Given the description of an element on the screen output the (x, y) to click on. 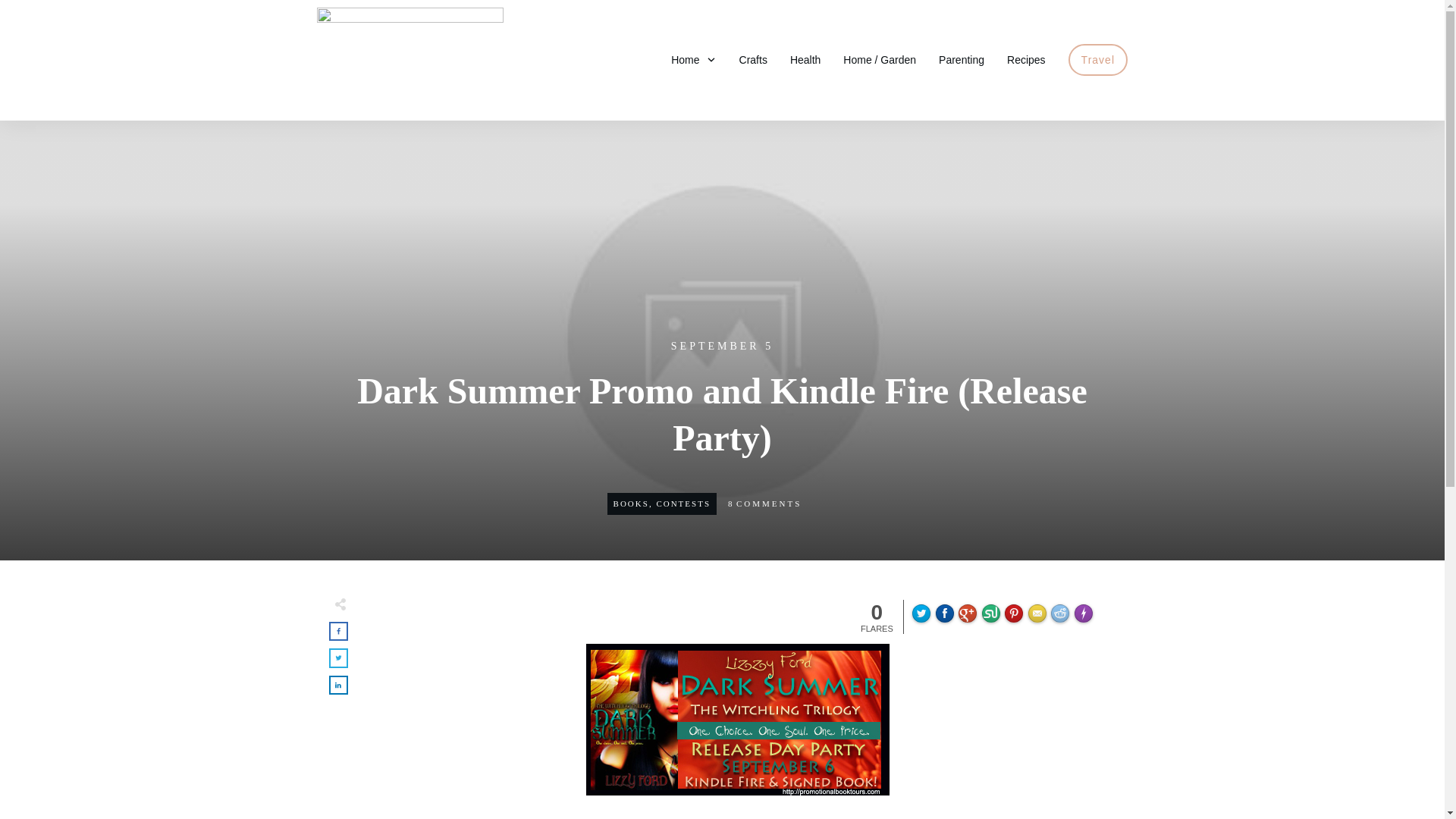
Recipes (1026, 59)
darksummerpromobanner (736, 719)
Crafts (753, 59)
Health (805, 59)
Contests (683, 502)
BOOKS (630, 502)
Parenting (961, 59)
Travel (1098, 59)
Books (630, 502)
CONTESTS (683, 502)
